Given the description of an element on the screen output the (x, y) to click on. 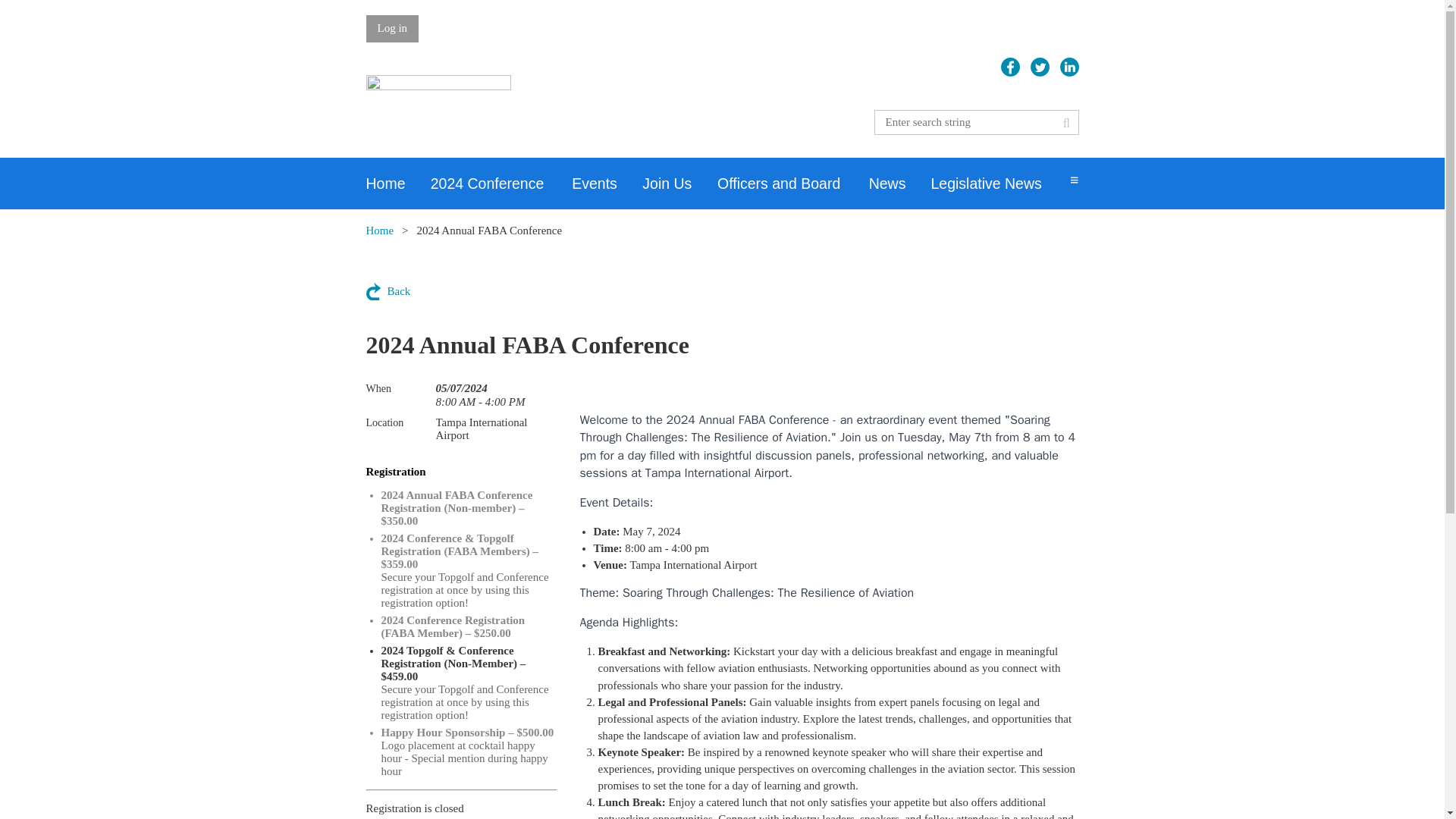
Home (397, 183)
Join Us (679, 183)
Home (379, 230)
Back (387, 291)
Join Us (679, 183)
Legislative News (999, 183)
Officers and Board (793, 183)
Events (607, 183)
LinkedIn (1068, 66)
Twitter (1039, 66)
Facebook (1010, 66)
2024 Conference (501, 183)
2024 Conference (501, 183)
Legislative News (999, 183)
News (900, 183)
